Given the description of an element on the screen output the (x, y) to click on. 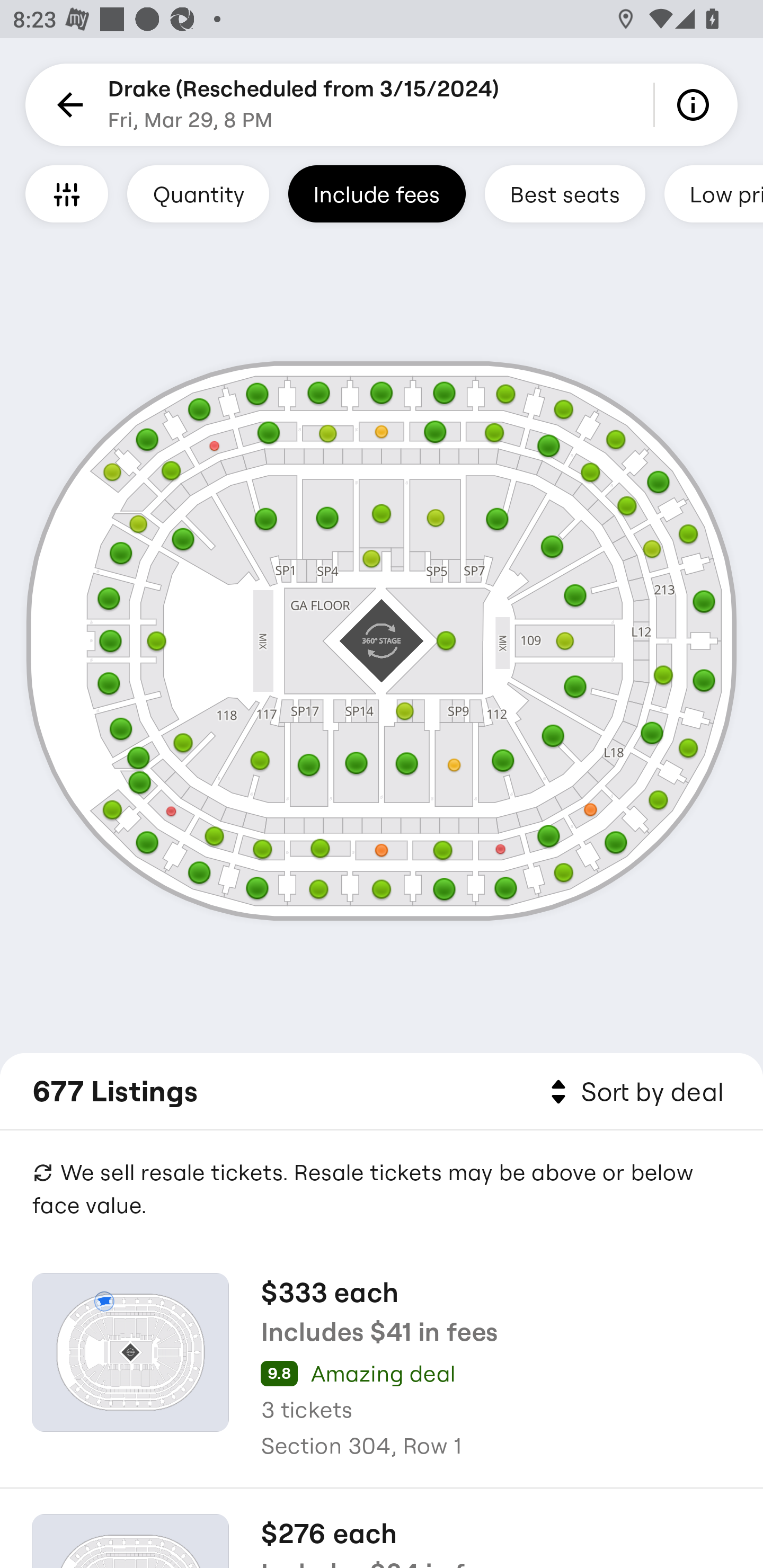
Back (66, 104)
Info (695, 104)
Filters and Accessible Seating (66, 193)
Quantity (198, 193)
Include fees (376, 193)
Best seats (564, 193)
Low prices (713, 193)
Sort by deal (633, 1091)
